Given the description of an element on the screen output the (x, y) to click on. 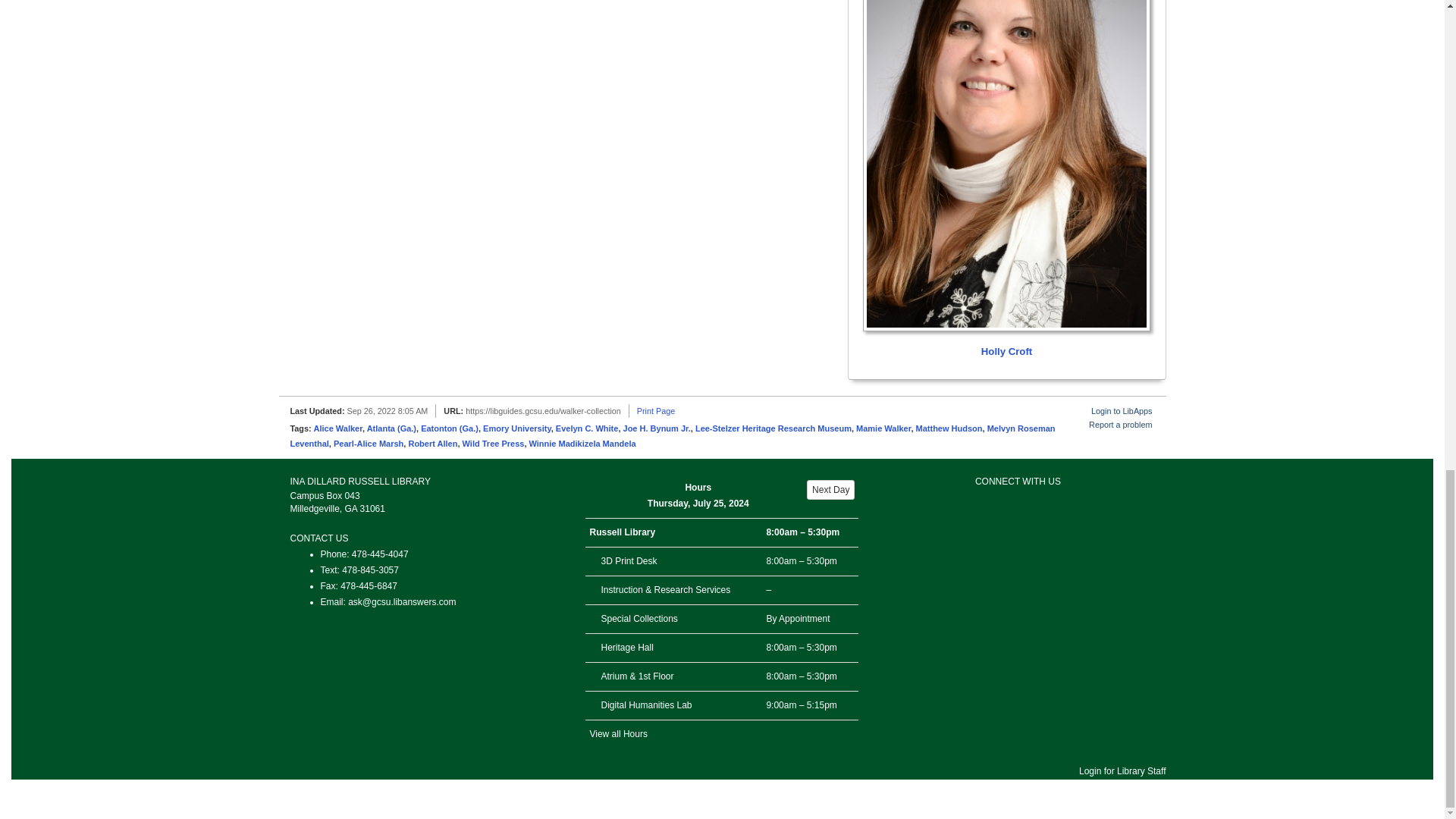
Emory University (517, 428)
Lee-Stelzer Heritage Research Museum (773, 428)
Holly Croft (1006, 179)
Login to LibApps (1120, 410)
Joe H. Bynum Jr. (656, 428)
Alice Walker (338, 428)
Melvyn Roseman Leventhal (671, 435)
Matthew Hudson (948, 428)
Report a problem (1120, 424)
Mamie Walker (883, 428)
Evelyn C. White (587, 428)
Print Page (656, 410)
